Given the description of an element on the screen output the (x, y) to click on. 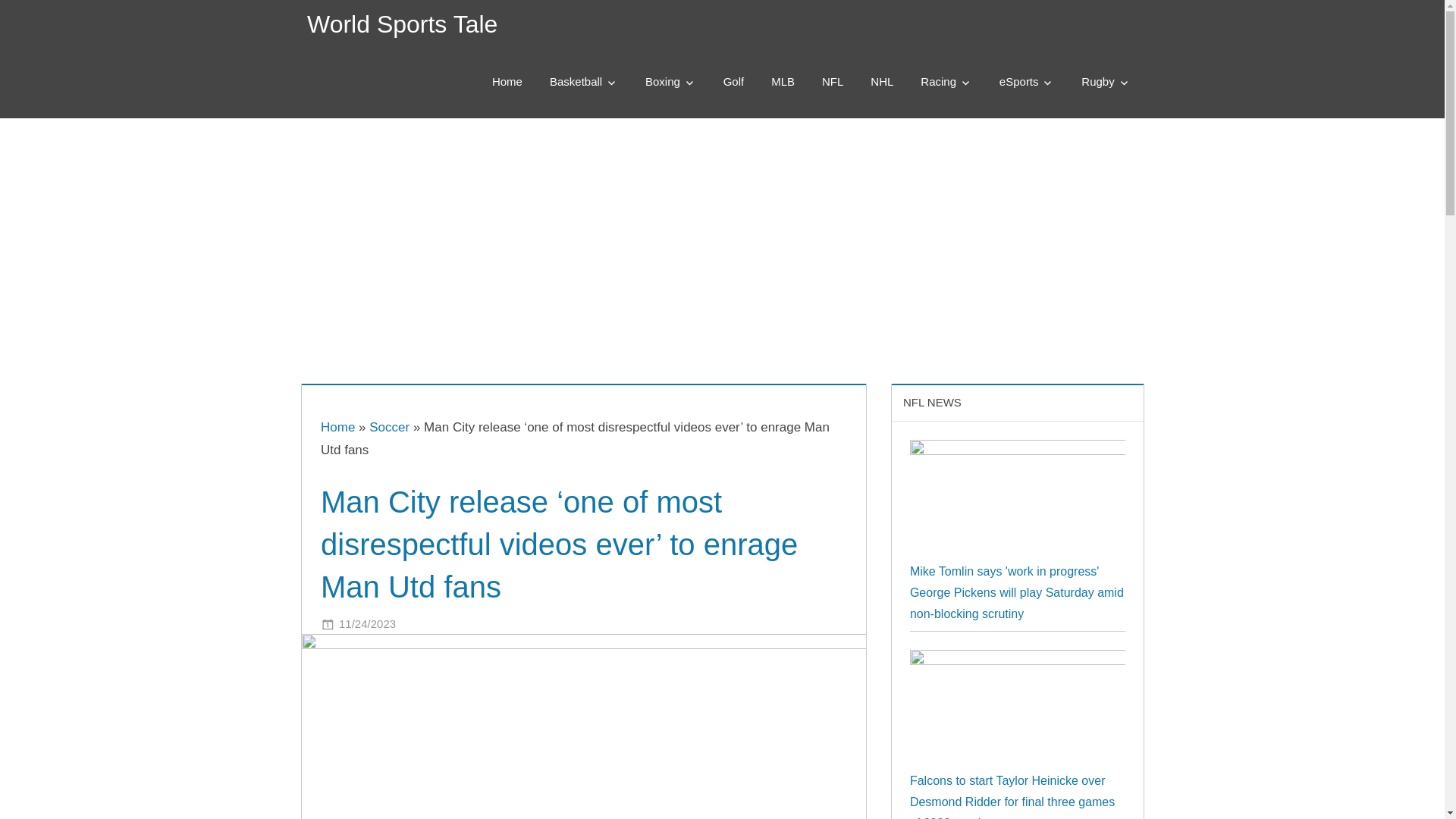
MLB (782, 81)
Rugby (1104, 81)
NFL (832, 81)
eSports (1026, 81)
Racing (946, 81)
World Sports Tale (402, 23)
NHL (882, 81)
Home (337, 427)
Boxing (670, 81)
11:09 (367, 623)
Golf (734, 81)
Soccer (389, 427)
